Given the description of an element on the screen output the (x, y) to click on. 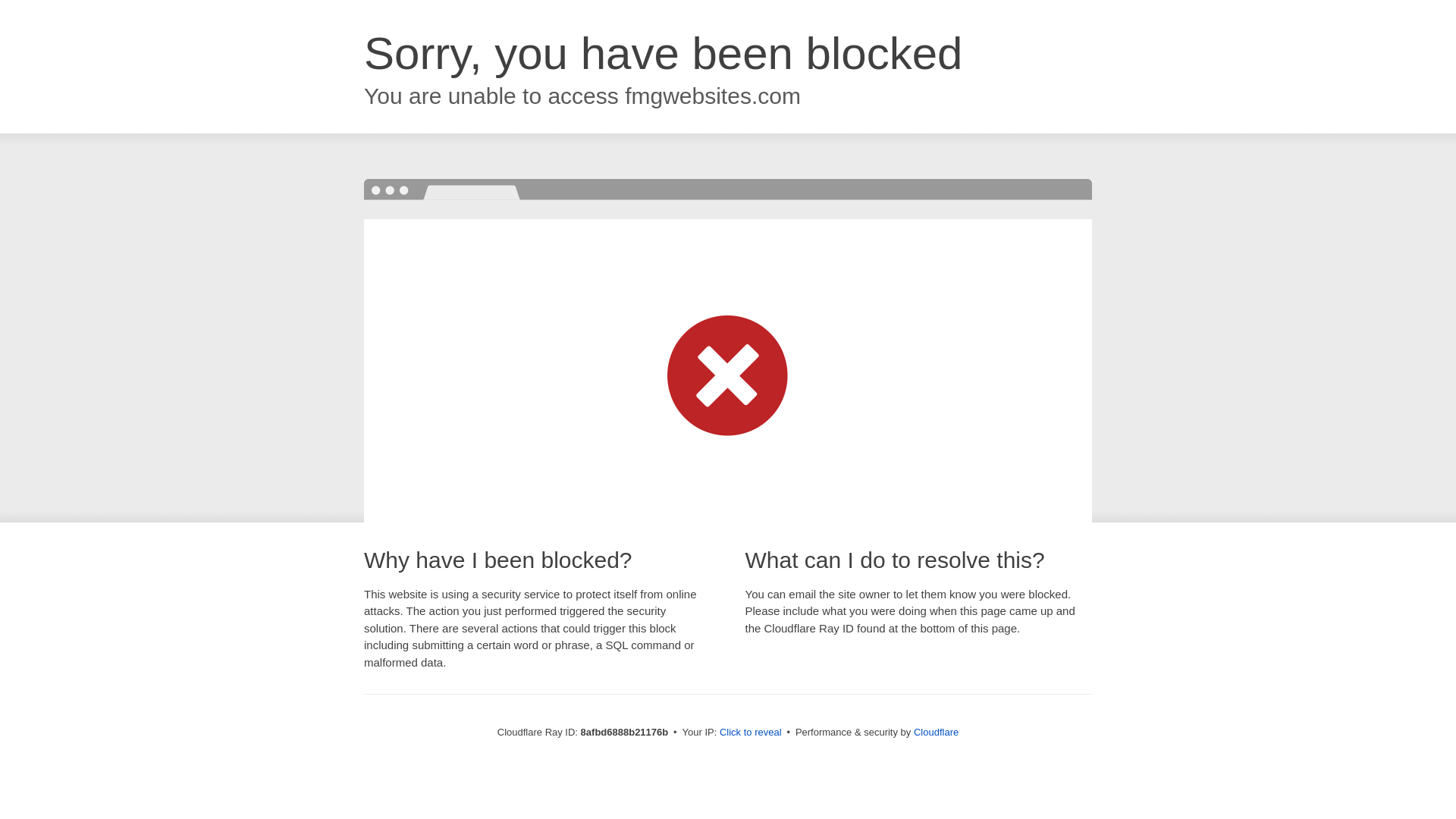
Cloudflare (936, 731)
Click to reveal (750, 732)
